Given the description of an element on the screen output the (x, y) to click on. 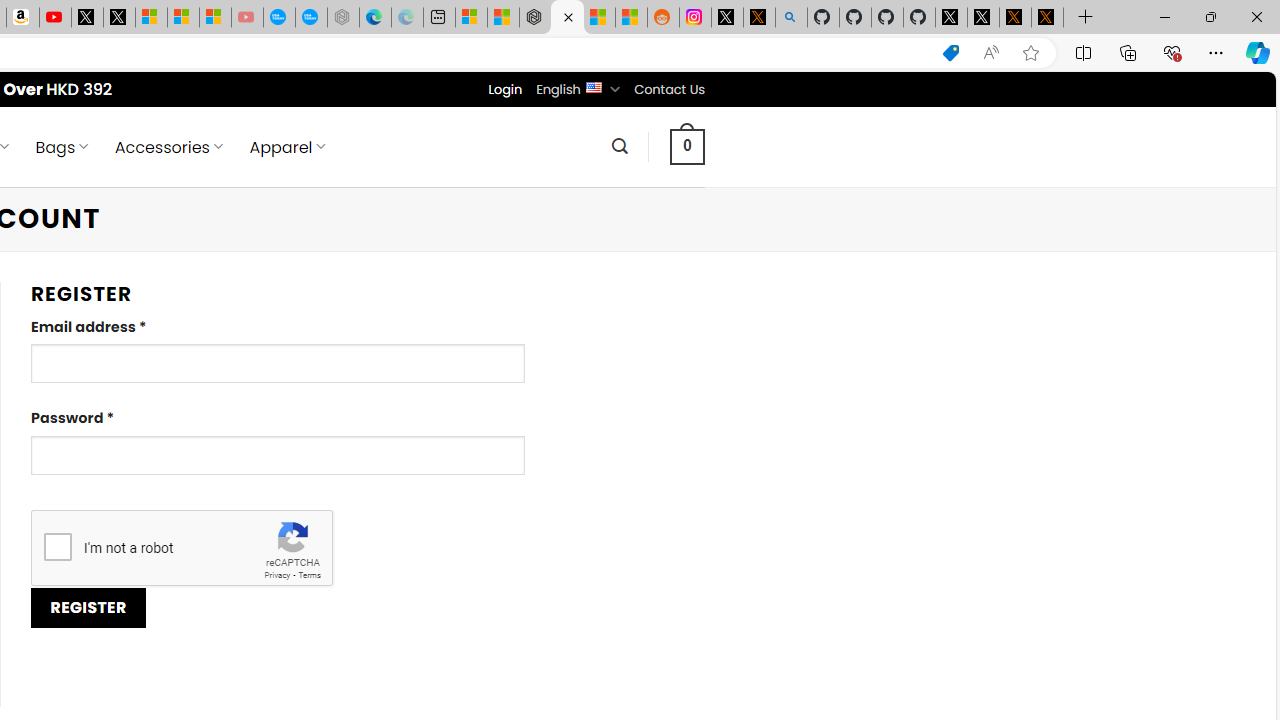
GitHub (@github) / X (983, 17)
Opinion: Op-Ed and Commentary - USA TODAY (279, 17)
Day 1: Arriving in Yemen (surreal to be here) - YouTube (54, 17)
Shanghai, China Weather trends | Microsoft Weather (630, 17)
Nordace - Nordace has arrived Hong Kong - Sleeping (343, 17)
